Given the description of an element on the screen output the (x, y) to click on. 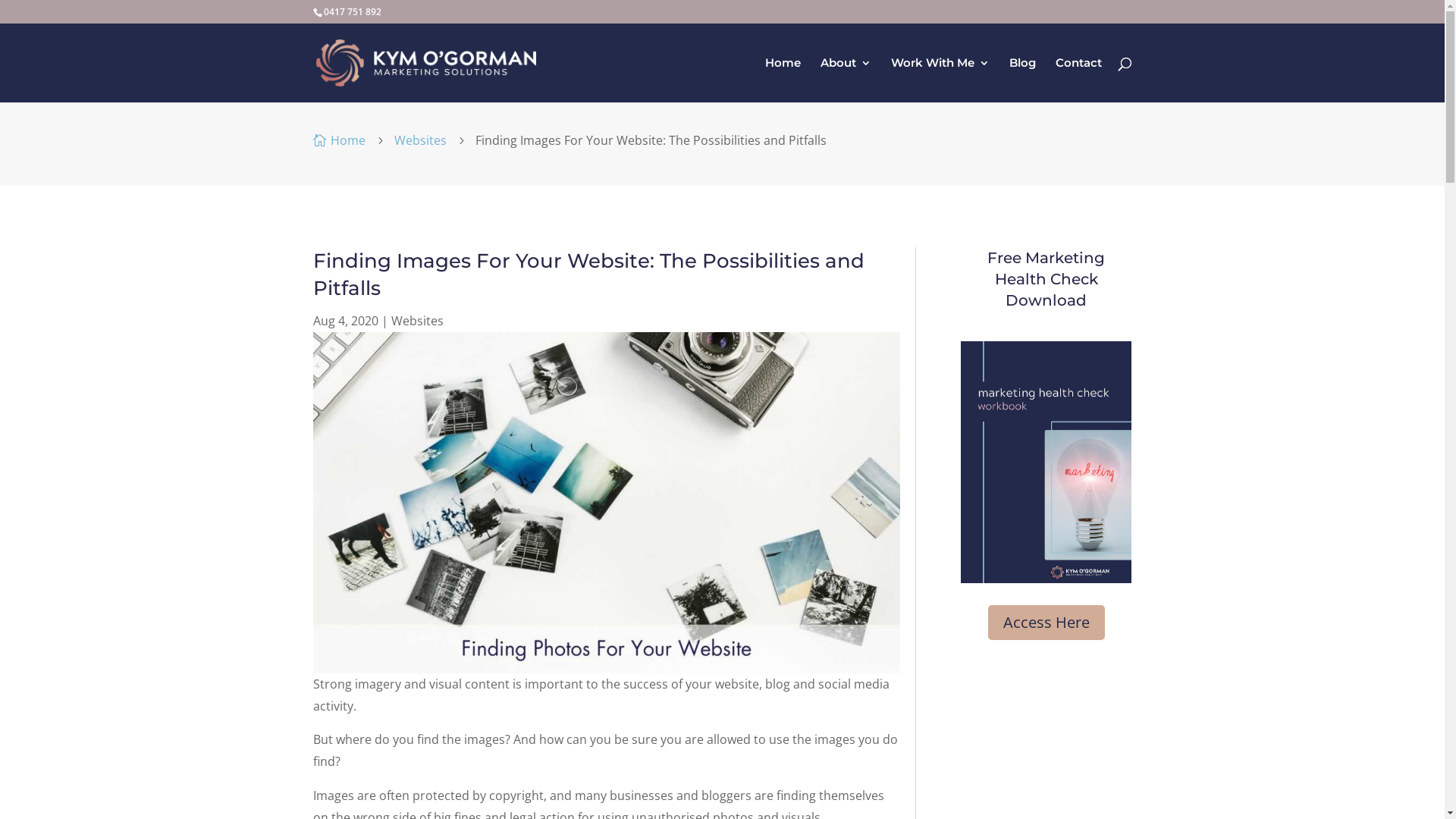
Home Element type: text (782, 79)
Work With Me Element type: text (939, 79)
Contact Element type: text (1078, 79)
finding-photos-for-your-website Element type: hover (605, 502)
Blog Element type: text (1021, 79)
marketing health check - 1 Element type: hover (1045, 462)
Access Here Element type: text (1046, 622)
Websites Element type: text (420, 140)
About Element type: text (845, 79)
Websites Element type: text (417, 320)
